Given the description of an element on the screen output the (x, y) to click on. 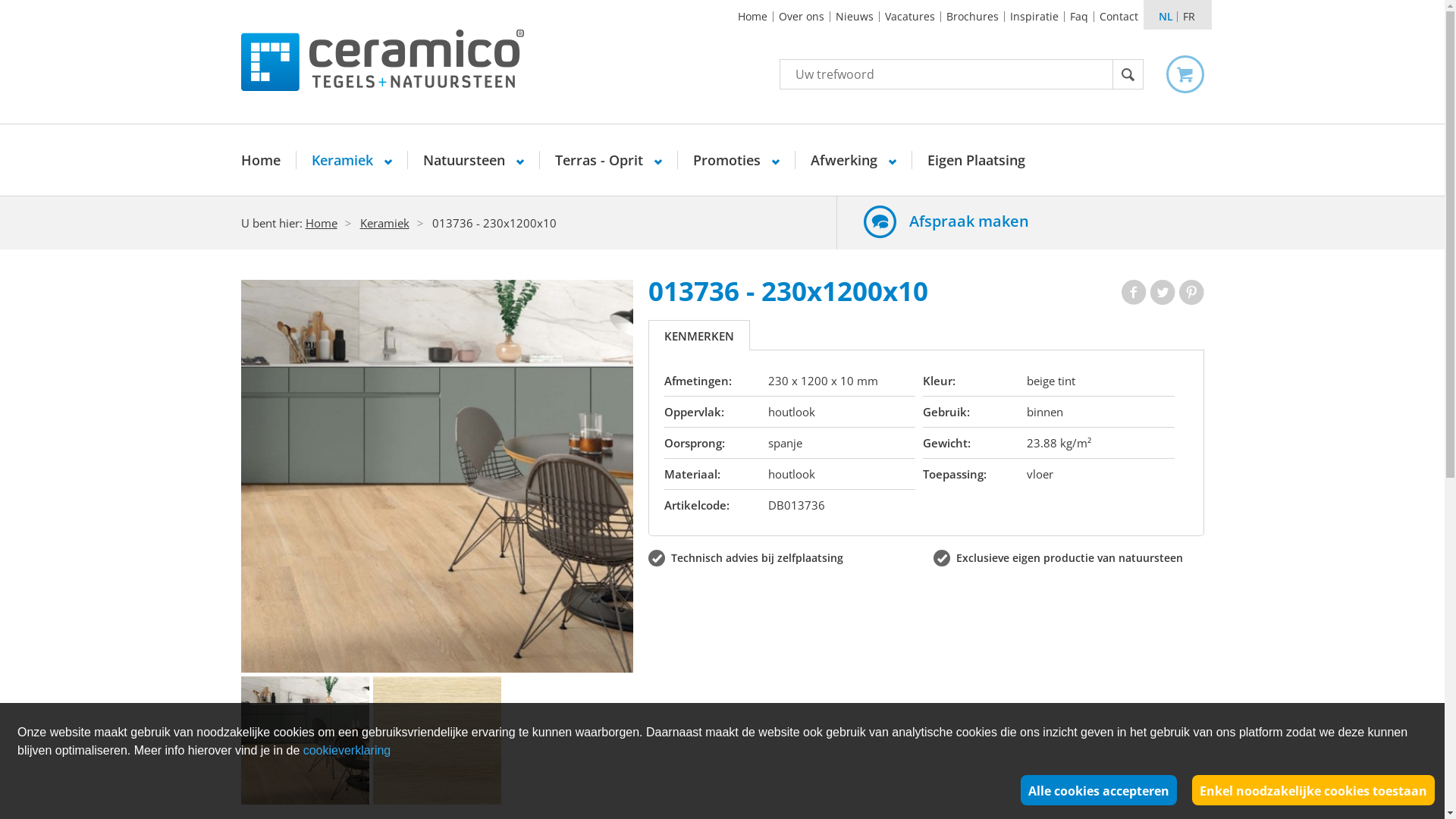
FR Element type: text (1187, 16)
Pinterest Element type: text (1190, 291)
Terras - Oprit Element type: text (608, 159)
Home Element type: text (268, 159)
Enkel noodzakelijke cookies toestaan Element type: text (1313, 790)
Afwerking Element type: text (852, 159)
Twitter Element type: text (1161, 291)
Eigen Plaatsing Element type: text (975, 159)
Keramiek Element type: text (383, 222)
Faq Element type: text (1078, 16)
Nieuws Element type: text (853, 16)
Afspraak maken Element type: text (1028, 220)
Zoek Element type: text (1128, 74)
Contact Element type: text (1117, 16)
Brochures Element type: text (971, 16)
KENMERKEN Element type: text (699, 335)
Facebook Element type: text (1132, 291)
Keramiek Element type: text (350, 159)
Uw trefwoord Element type: hover (946, 74)
Home Element type: text (320, 222)
Promoties Element type: text (735, 159)
18956 Element type: hover (437, 475)
Alle cookies accepteren Element type: text (1098, 790)
Over ons Element type: text (801, 16)
Inspiratie Element type: text (1033, 16)
cookieverklaring Element type: text (347, 749)
Ceramico Tegels Natuursteen Element type: hover (396, 61)
Zoek Element type: hover (1128, 74)
Vacatures Element type: text (909, 16)
Ceramico Tegels Natuursteen Element type: hover (382, 60)
Natuursteen Element type: text (473, 159)
Home Element type: text (752, 16)
18956 Element type: hover (305, 740)
18956 Element type: hover (437, 740)
